Given the description of an element on the screen output the (x, y) to click on. 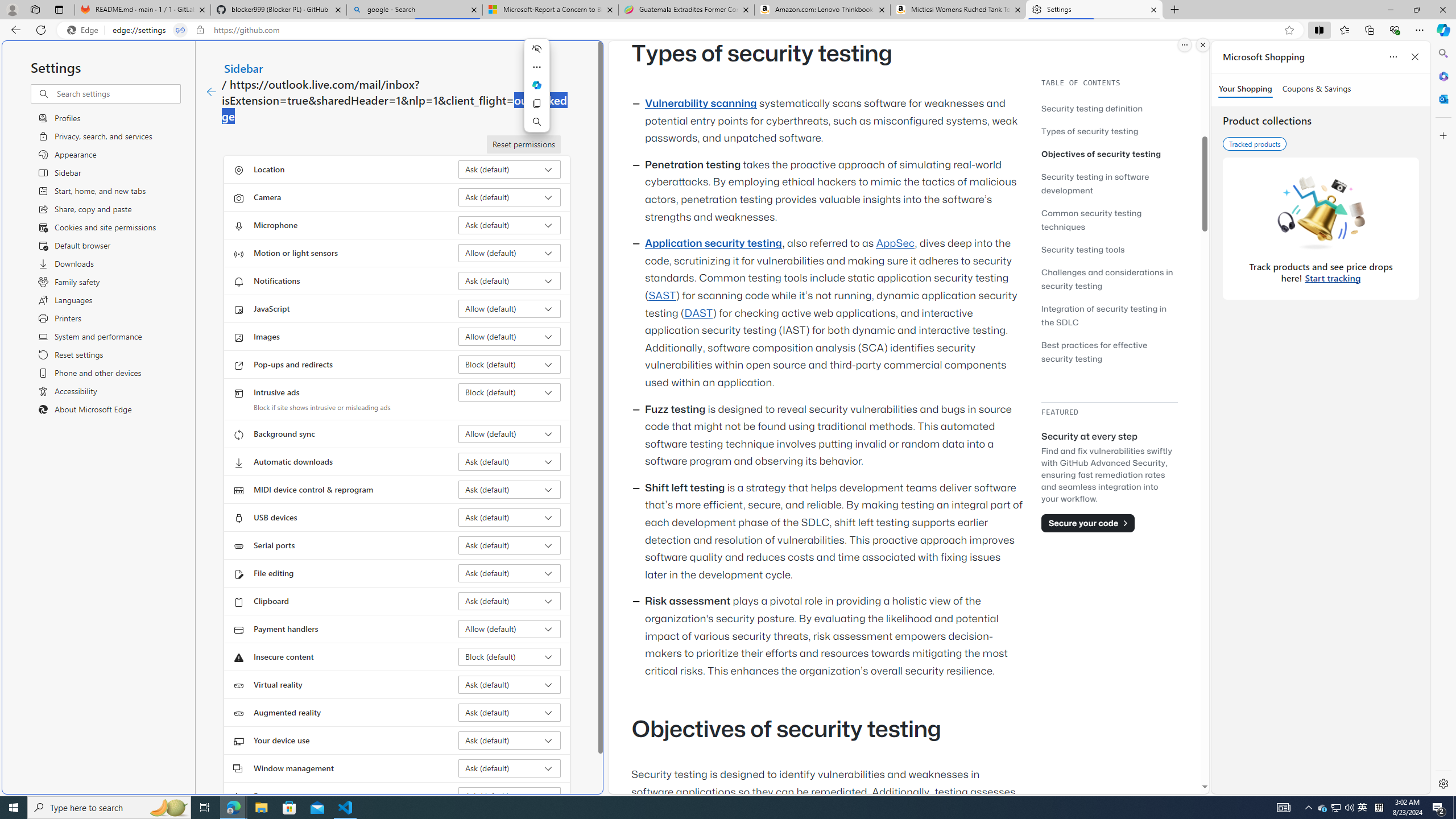
Virtual reality Ask (default) (509, 684)
Camera Ask (default) (509, 197)
Copy (536, 103)
Types of security testing (1089, 130)
Clipboard Ask (default) (509, 601)
Security testing definition (1091, 108)
Security testing tools (1083, 248)
